Given the description of an element on the screen output the (x, y) to click on. 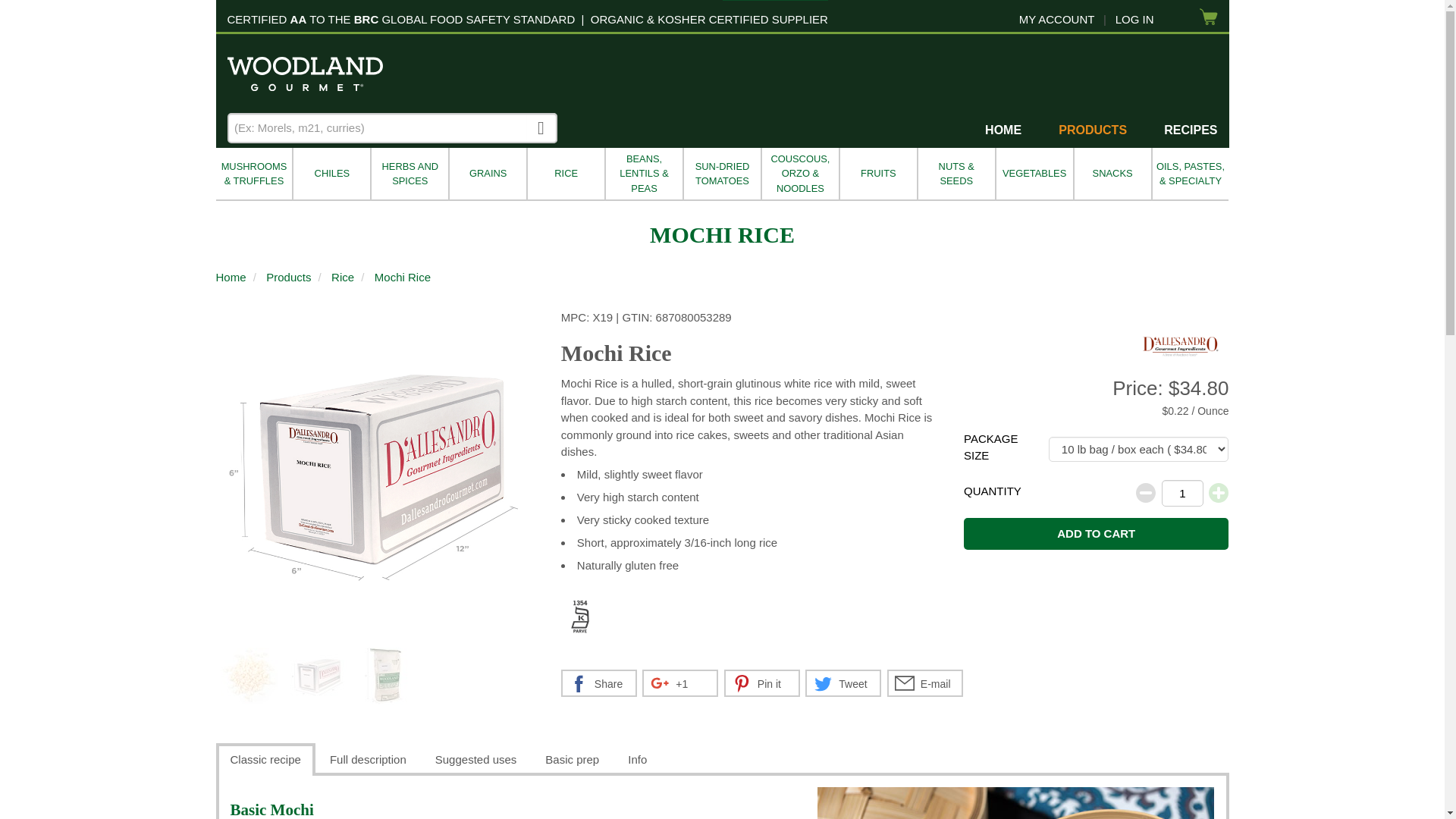
CHILES (330, 174)
SEARCH (541, 127)
HERBS AND SPICES (408, 174)
BRC (365, 18)
Home (230, 277)
Products (288, 277)
FRUITS (877, 174)
Share (598, 682)
HOME (1003, 129)
Rice (342, 277)
SUN-DRIED TOMATOES (721, 174)
GRAINS (486, 174)
RICE (564, 174)
